Given the description of an element on the screen output the (x, y) to click on. 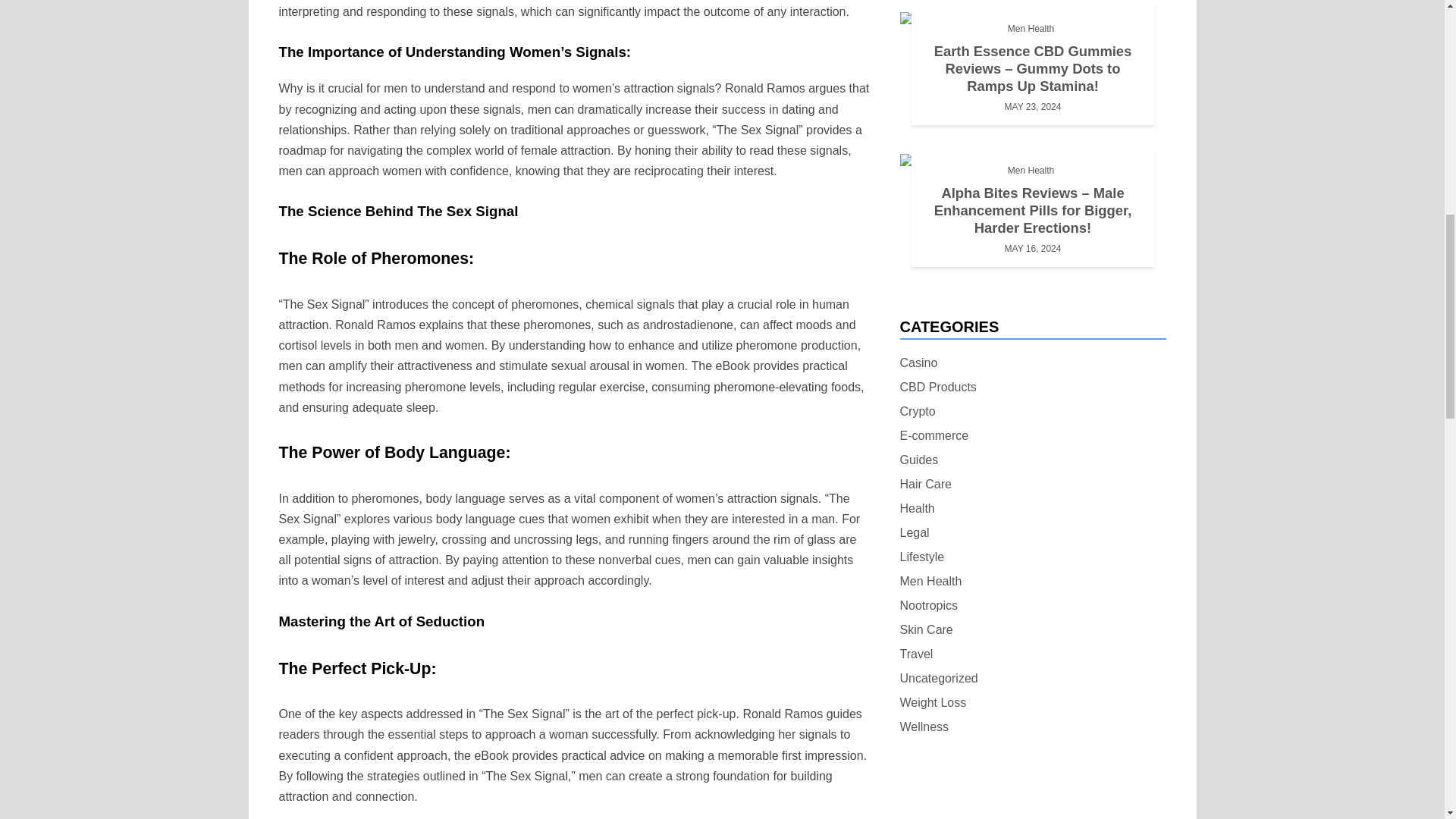
CBD Products (937, 386)
Crypto (916, 411)
Men Health (1030, 170)
Casino (918, 362)
Men Health (1030, 28)
MAY 23, 2024 (1032, 106)
MAY 16, 2024 (1032, 248)
